Given the description of an element on the screen output the (x, y) to click on. 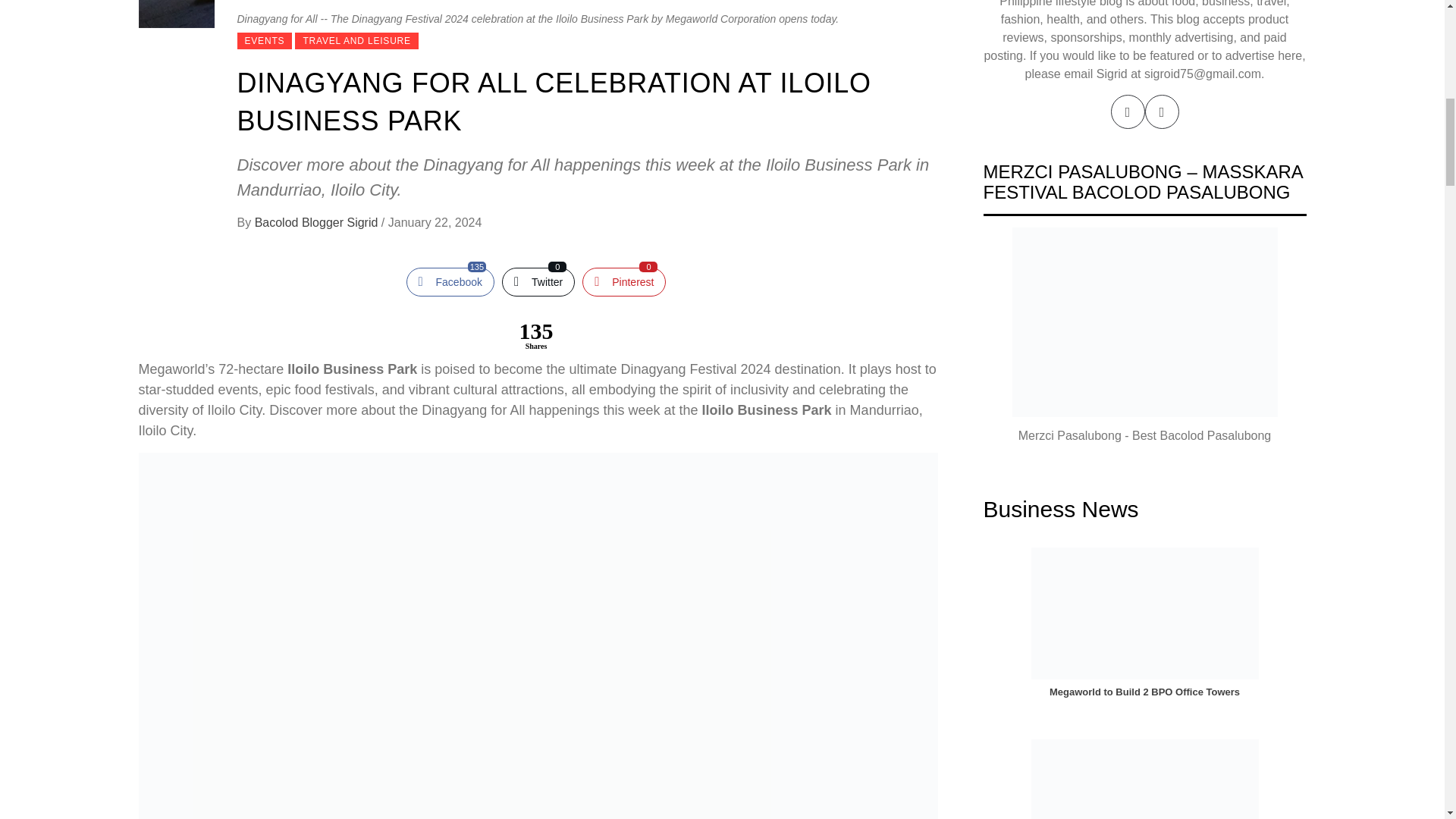
TRAVEL AND LEISURE (356, 40)
Bacolod Blogger Sigrid (623, 281)
EVENTS (450, 281)
